Given the description of an element on the screen output the (x, y) to click on. 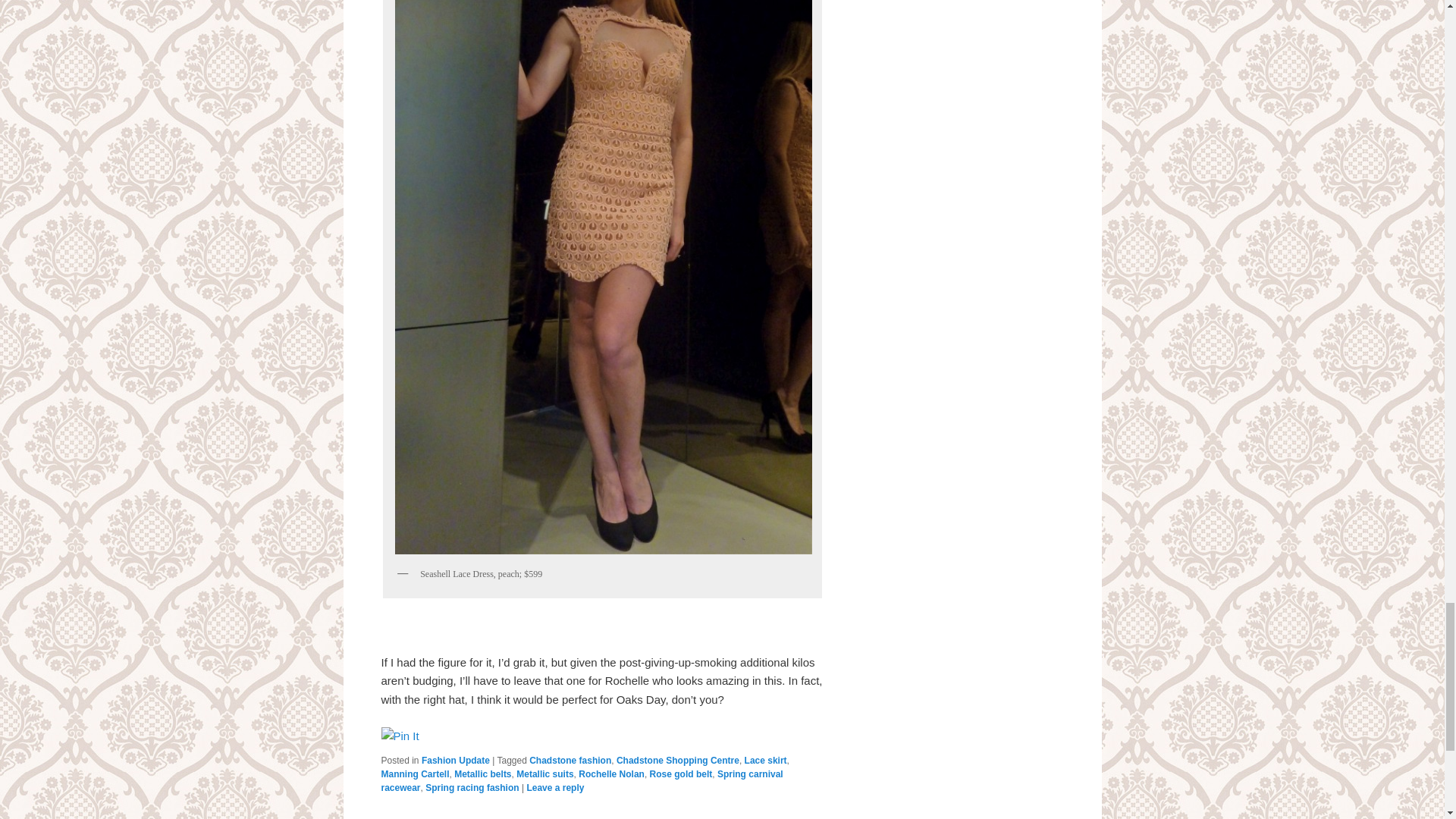
Lace skirt (765, 760)
Metallic suits (544, 774)
Chadstone Shopping Centre (677, 760)
Chadstone fashion (570, 760)
Manning Cartell (414, 774)
Fashion Update (455, 760)
Metallic belts (482, 774)
Rochelle Nolan (611, 774)
